Given the description of an element on the screen output the (x, y) to click on. 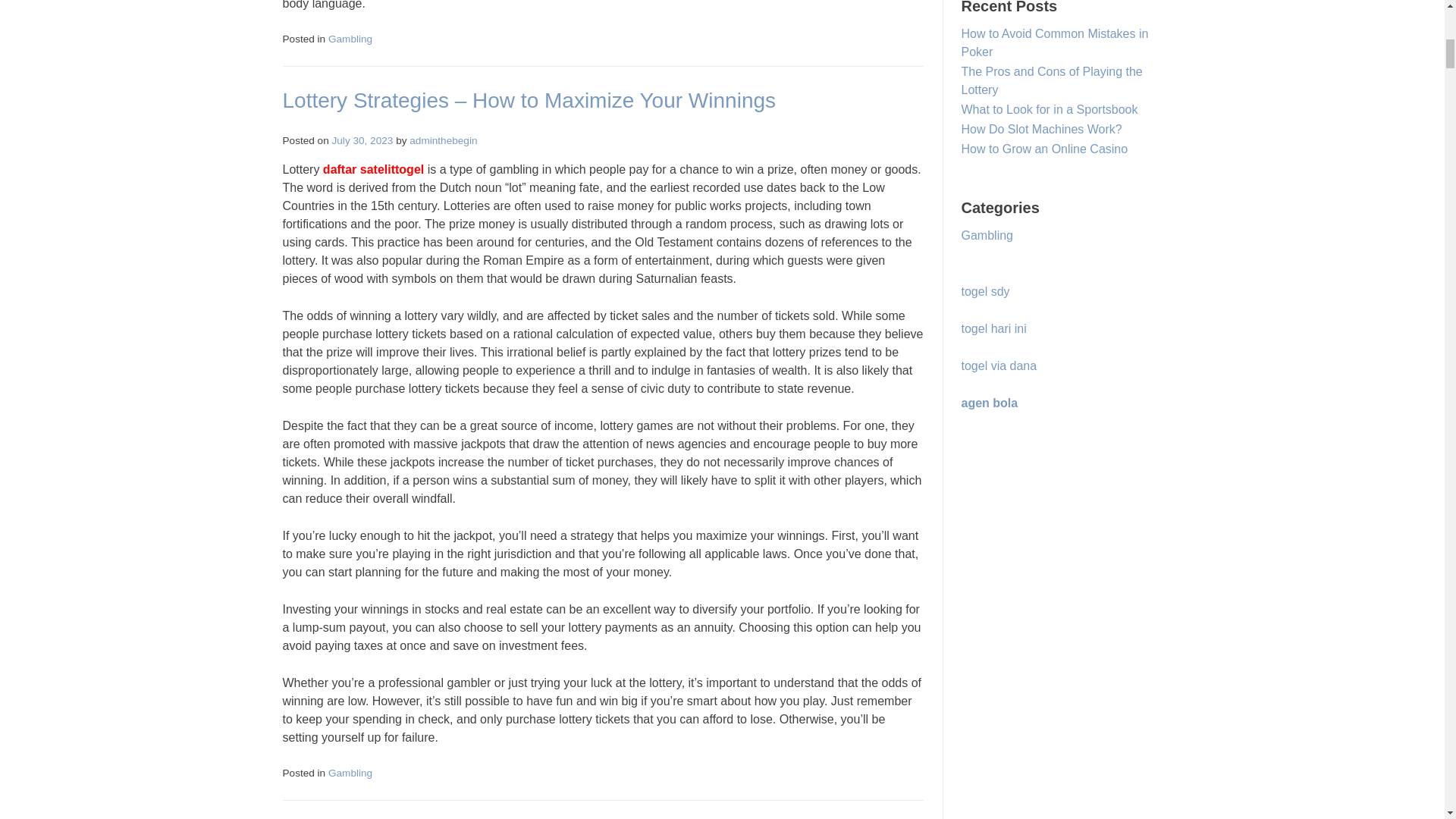
Gambling (350, 772)
adminthebegin (443, 140)
Gambling (350, 39)
July 30, 2023 (362, 140)
daftar satelittogel (373, 169)
